Given the description of an element on the screen output the (x, y) to click on. 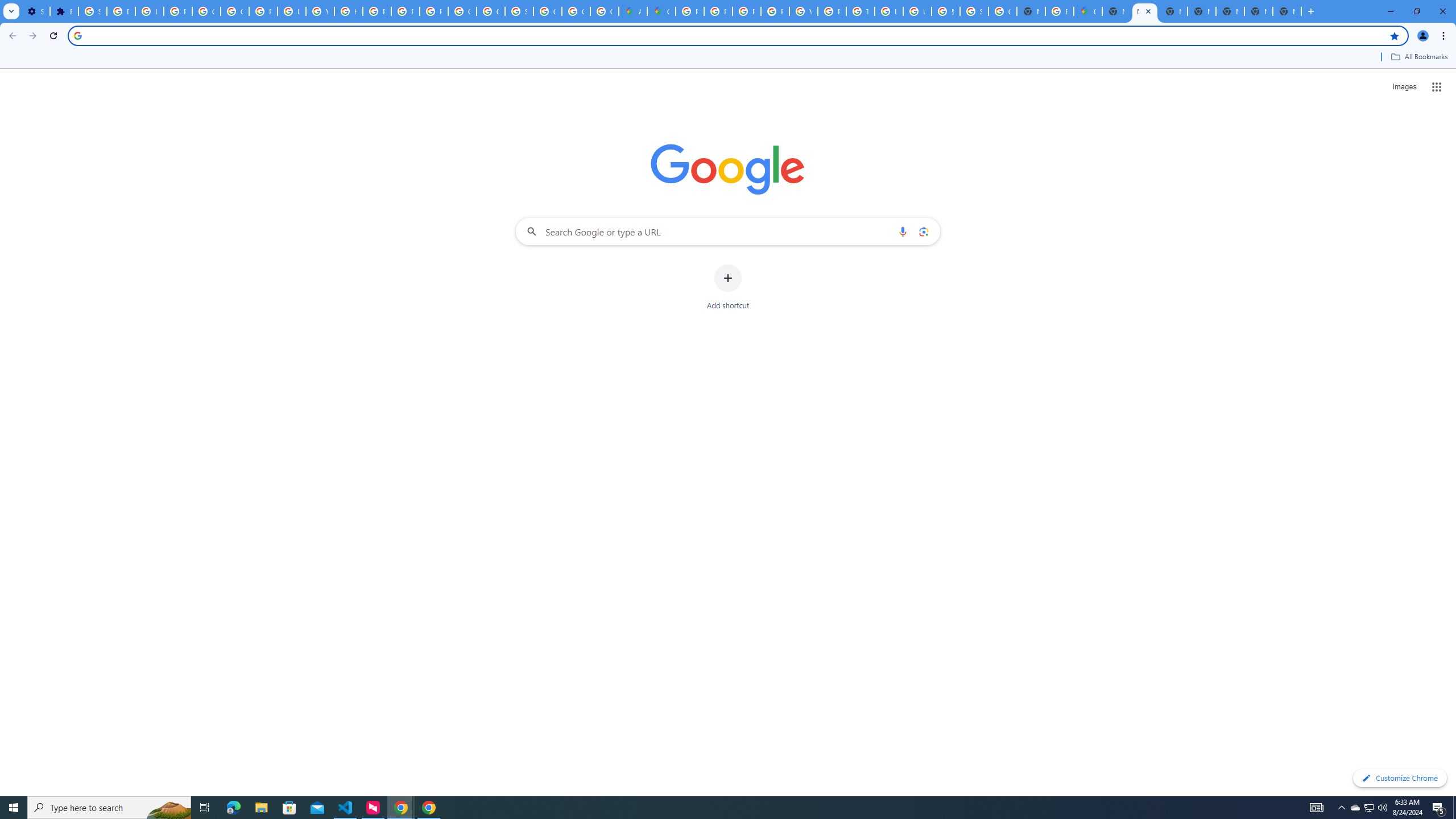
Google Account Help (206, 11)
YouTube (320, 11)
https://scholar.google.com/ (348, 11)
Privacy Help Center - Policies Help (718, 11)
Google Maps (1088, 11)
Privacy Help Center - Policies Help (746, 11)
